Given the description of an element on the screen output the (x, y) to click on. 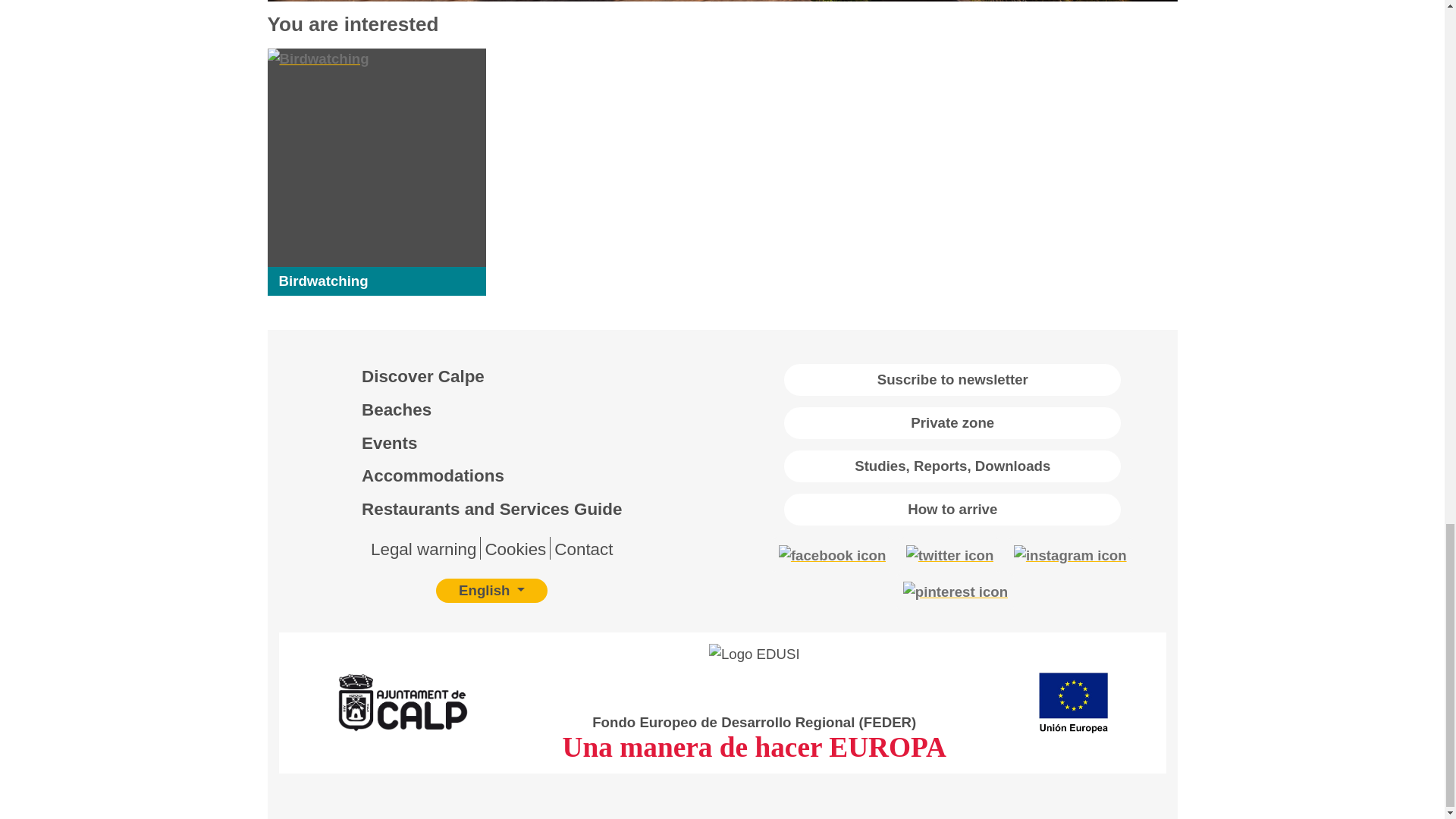
Birdwatching  (323, 280)
Suscribe to newsletter (952, 379)
How to arrive (952, 509)
Discover Calpe (422, 375)
Legal warning (423, 548)
Restaurants and Services Guide (491, 508)
Cookie policy (515, 548)
Previous (334, 0)
Legal warning (423, 548)
Birdwatching (323, 280)
English (491, 589)
Beaches (395, 409)
Birdwatching  (384, 157)
Cookies (515, 548)
Accommodations (432, 475)
